Given the description of an element on the screen output the (x, y) to click on. 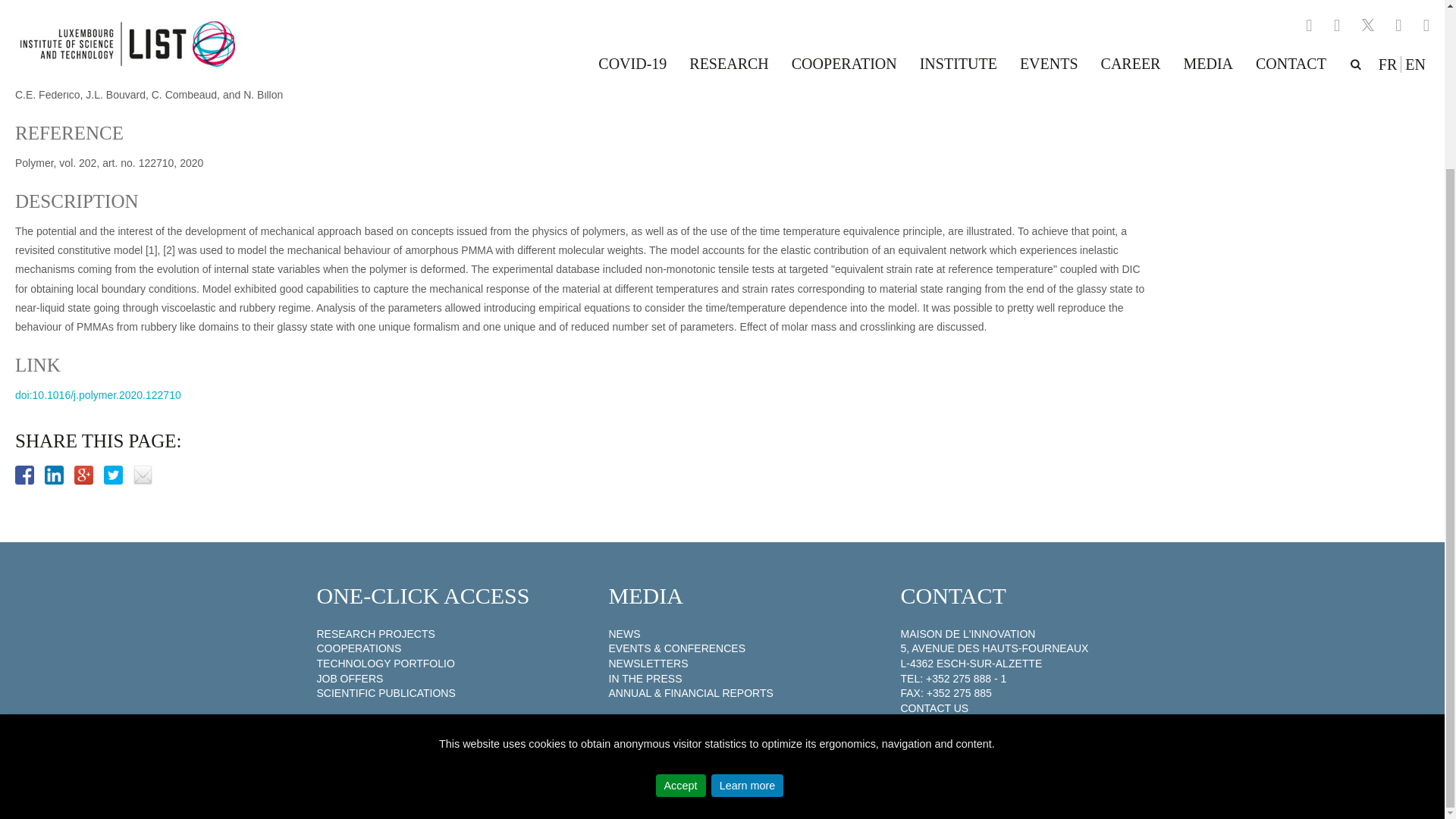
Accept cookies (681, 582)
Accept (681, 582)
Learn more (747, 582)
